Given the description of an element on the screen output the (x, y) to click on. 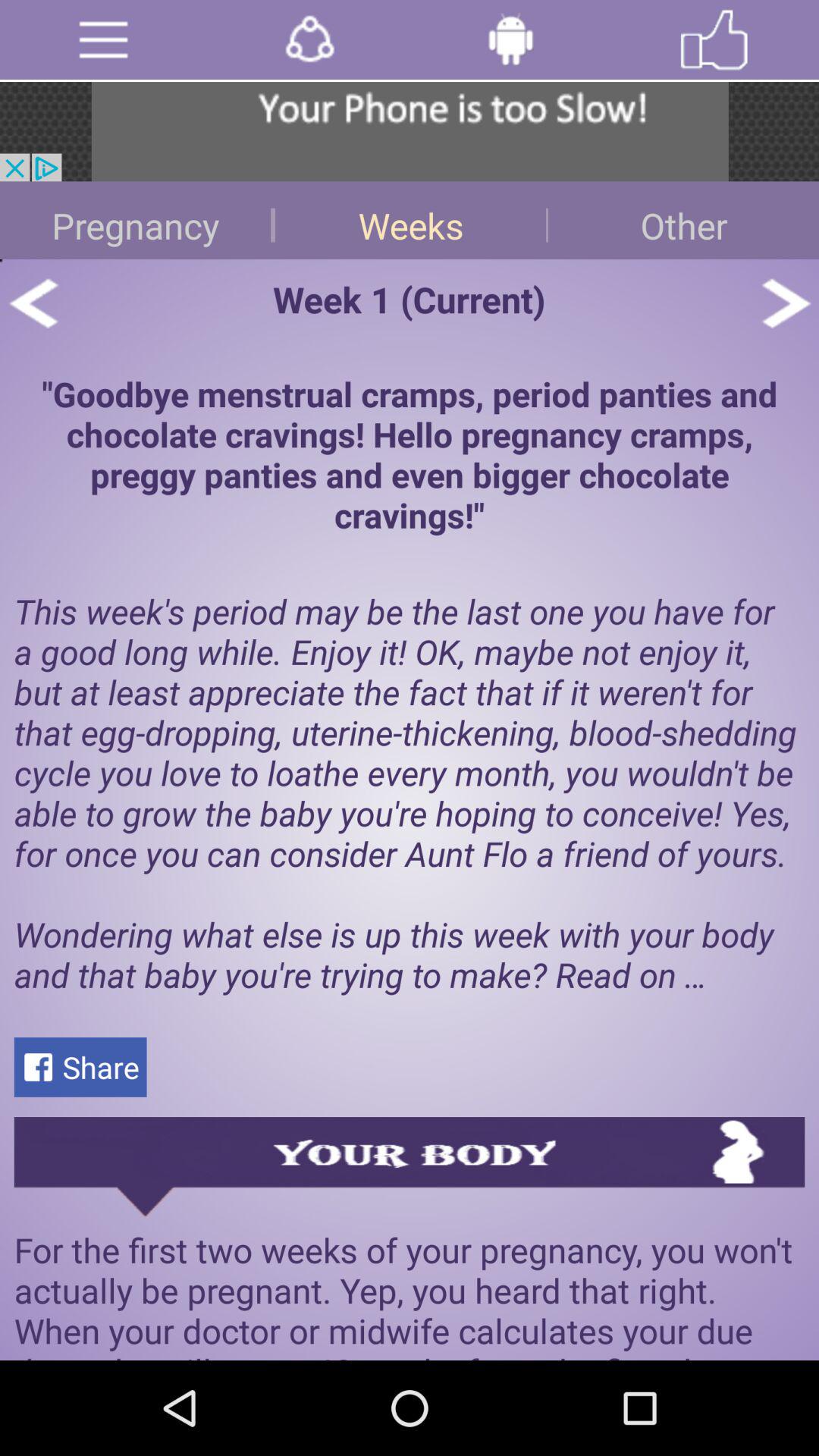
like this page (714, 39)
